Given the description of an element on the screen output the (x, y) to click on. 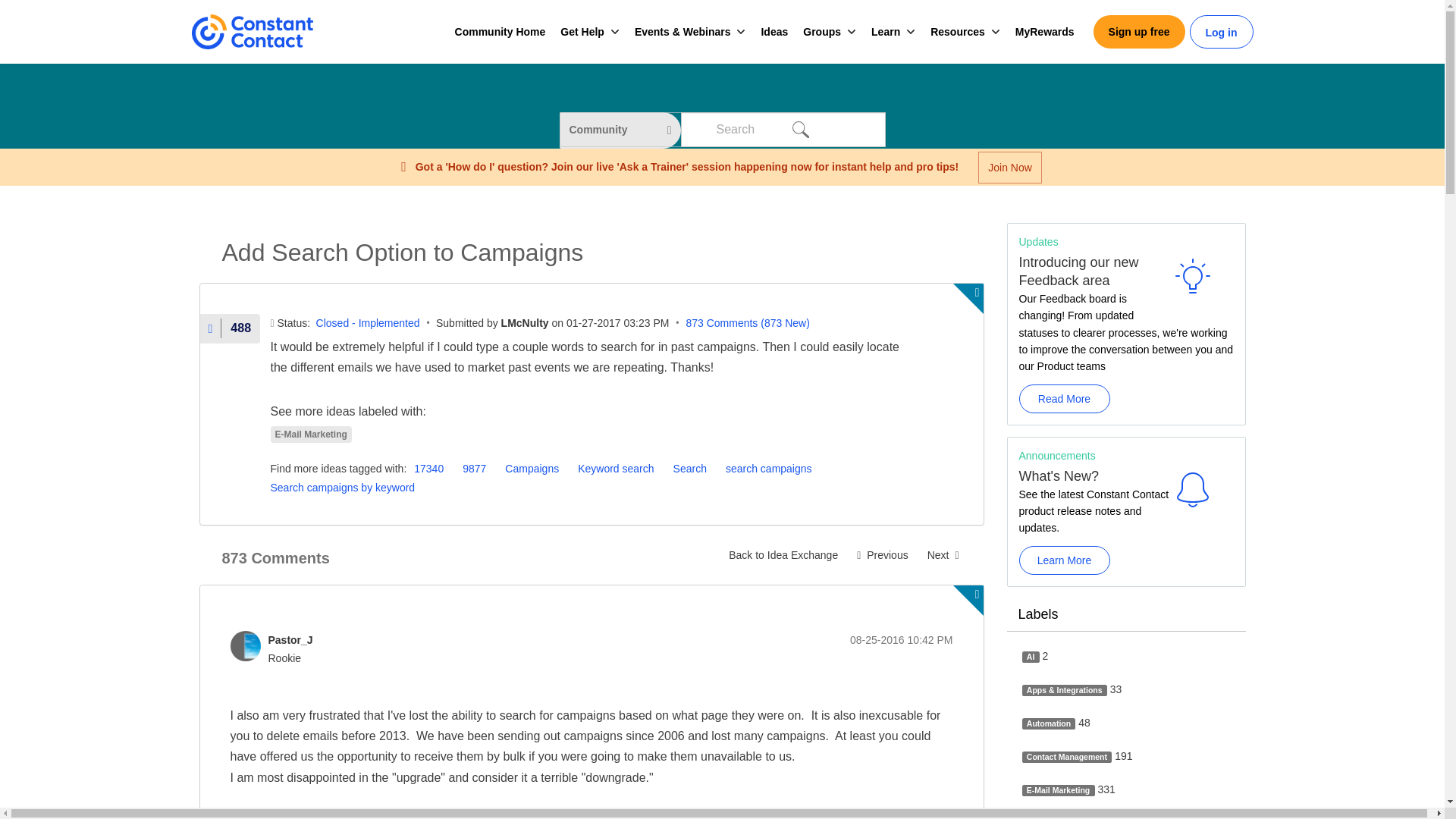
Sign up free (1139, 31)
Learn (884, 31)
Log in (1221, 32)
Search (799, 129)
MyRewards (1044, 31)
Get Help (582, 31)
Ideas (773, 31)
Search (799, 129)
Sign up free (1139, 31)
Groups (822, 31)
Log in (1221, 32)
Resources (957, 31)
Community Home (500, 31)
